Given the description of an element on the screen output the (x, y) to click on. 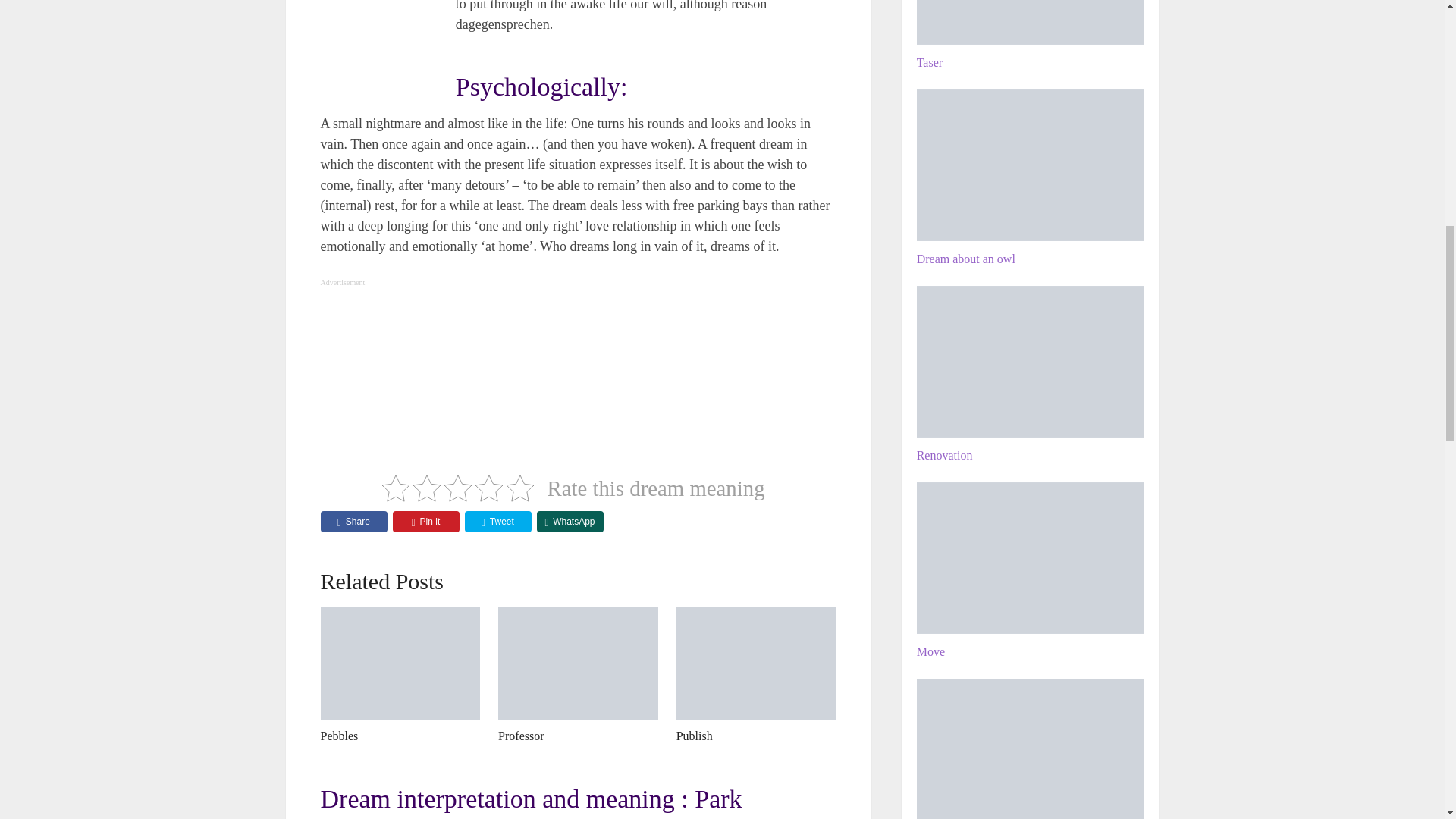
Taser (1030, 22)
park (376, 35)
Share (353, 521)
Pebbles (400, 663)
Pebbles (339, 735)
Professor (520, 735)
Publish (695, 735)
Professor (577, 663)
Publish (756, 663)
WhatsApp (570, 521)
Tweet (497, 521)
Pin it (426, 521)
